Given the description of an element on the screen output the (x, y) to click on. 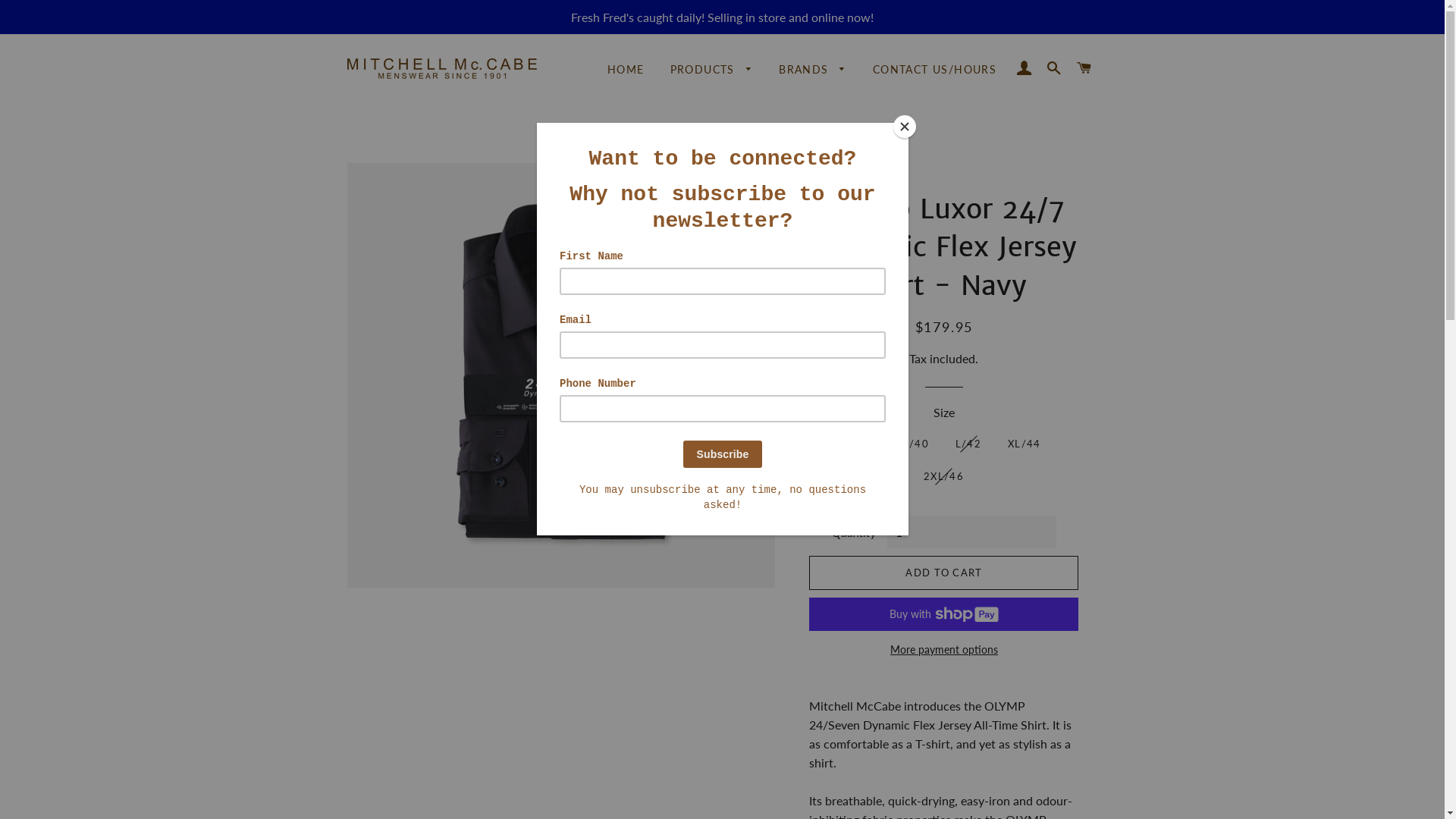
HOME Element type: text (625, 69)
CART Element type: text (1083, 68)
ADD TO CART Element type: text (943, 572)
More payment options Element type: text (943, 649)
LOG IN Element type: text (1023, 68)
PRODUCTS Element type: text (711, 69)
Fresh Fred's caught daily! Selling in store and online now! Element type: text (722, 17)
CONTACT US/HOURS Element type: text (934, 69)
BRANDS Element type: text (812, 69)
SEARCH Element type: text (1054, 68)
